Given the description of an element on the screen output the (x, y) to click on. 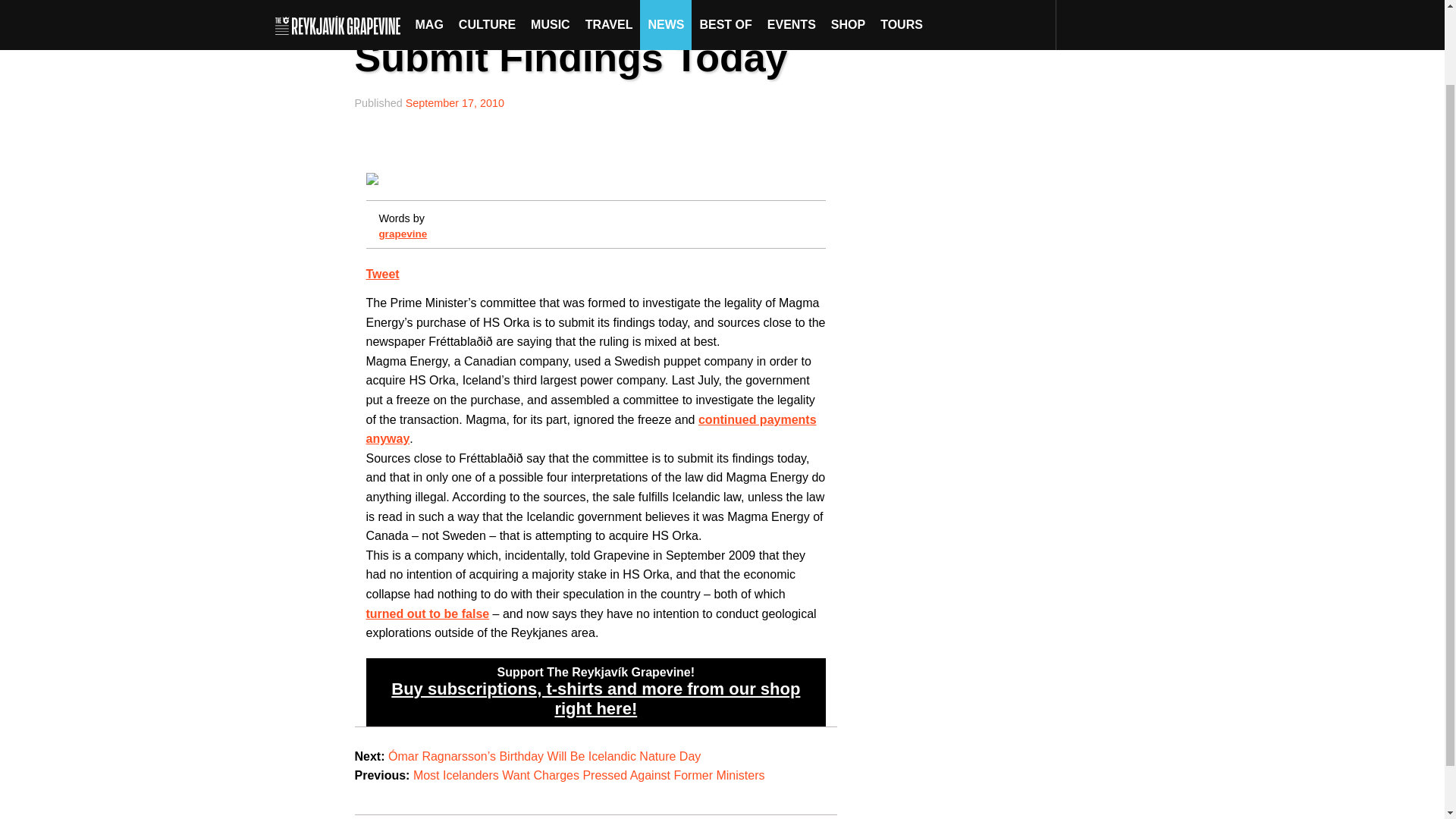
Tweet (381, 273)
grapevine (402, 233)
turned out to be false (427, 613)
Posts by grapevine (402, 233)
continued payments anyway (590, 429)
